Given the description of an element on the screen output the (x, y) to click on. 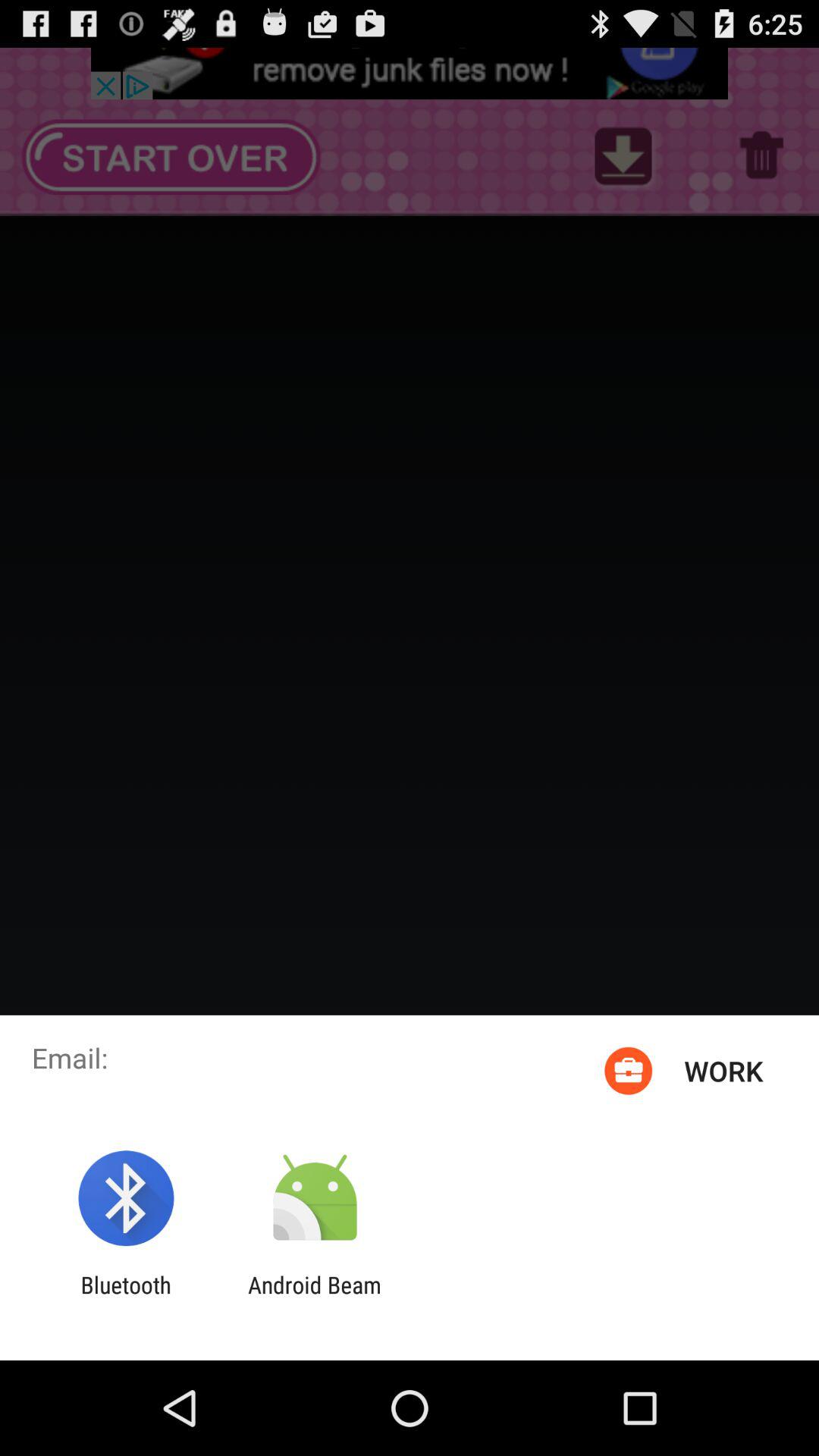
flip until android beam app (314, 1298)
